Given the description of an element on the screen output the (x, y) to click on. 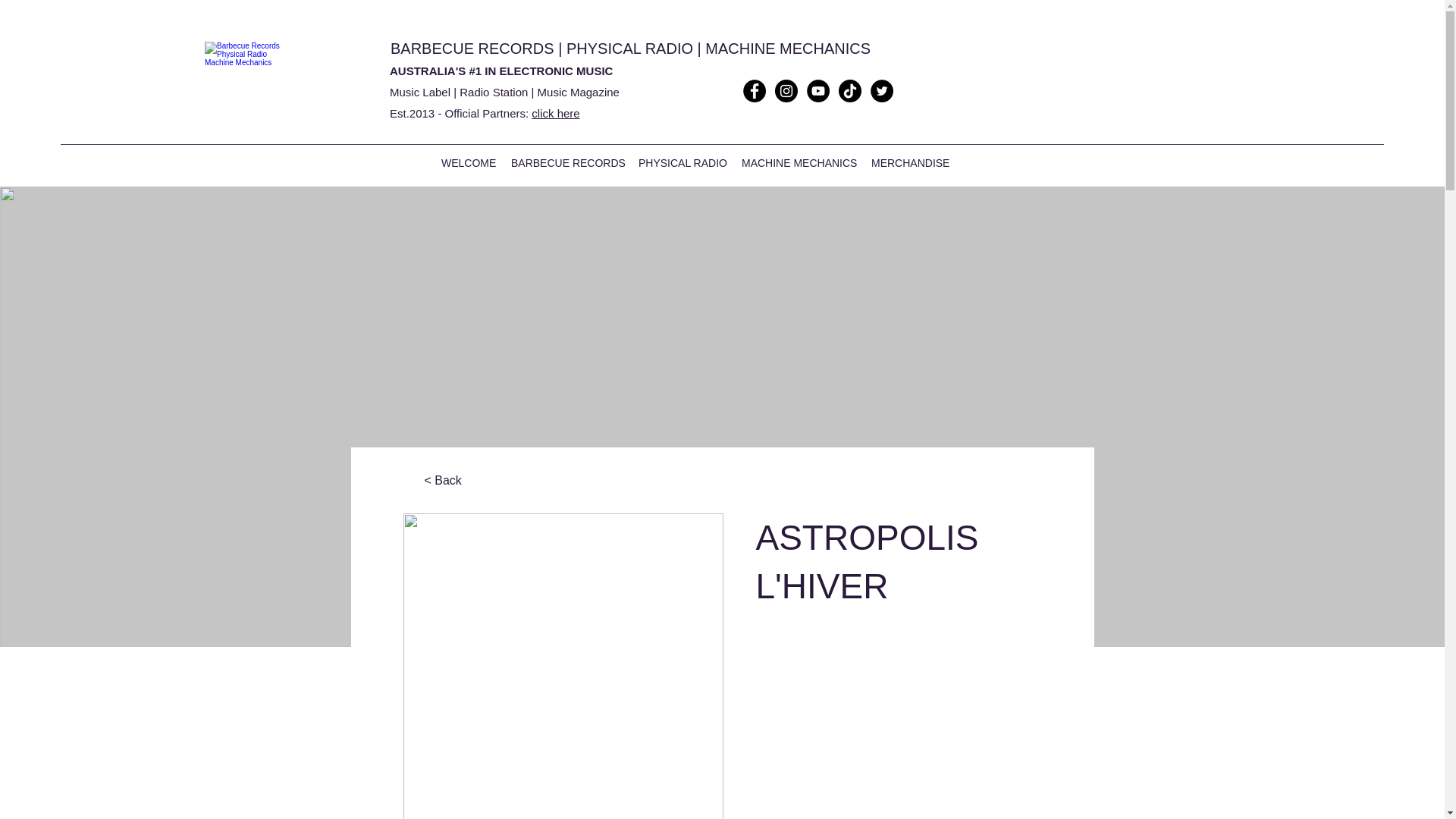
BARBECUE RECORDS (566, 162)
click here (555, 113)
WELCOME (468, 162)
BARBECUE RECORDS (472, 48)
PHYSICAL RADIO (629, 48)
MACHINE MECHANICS (798, 162)
PHYSICAL RADIO (681, 162)
MACHINE MECHANICS (787, 48)
